Given the description of an element on the screen output the (x, y) to click on. 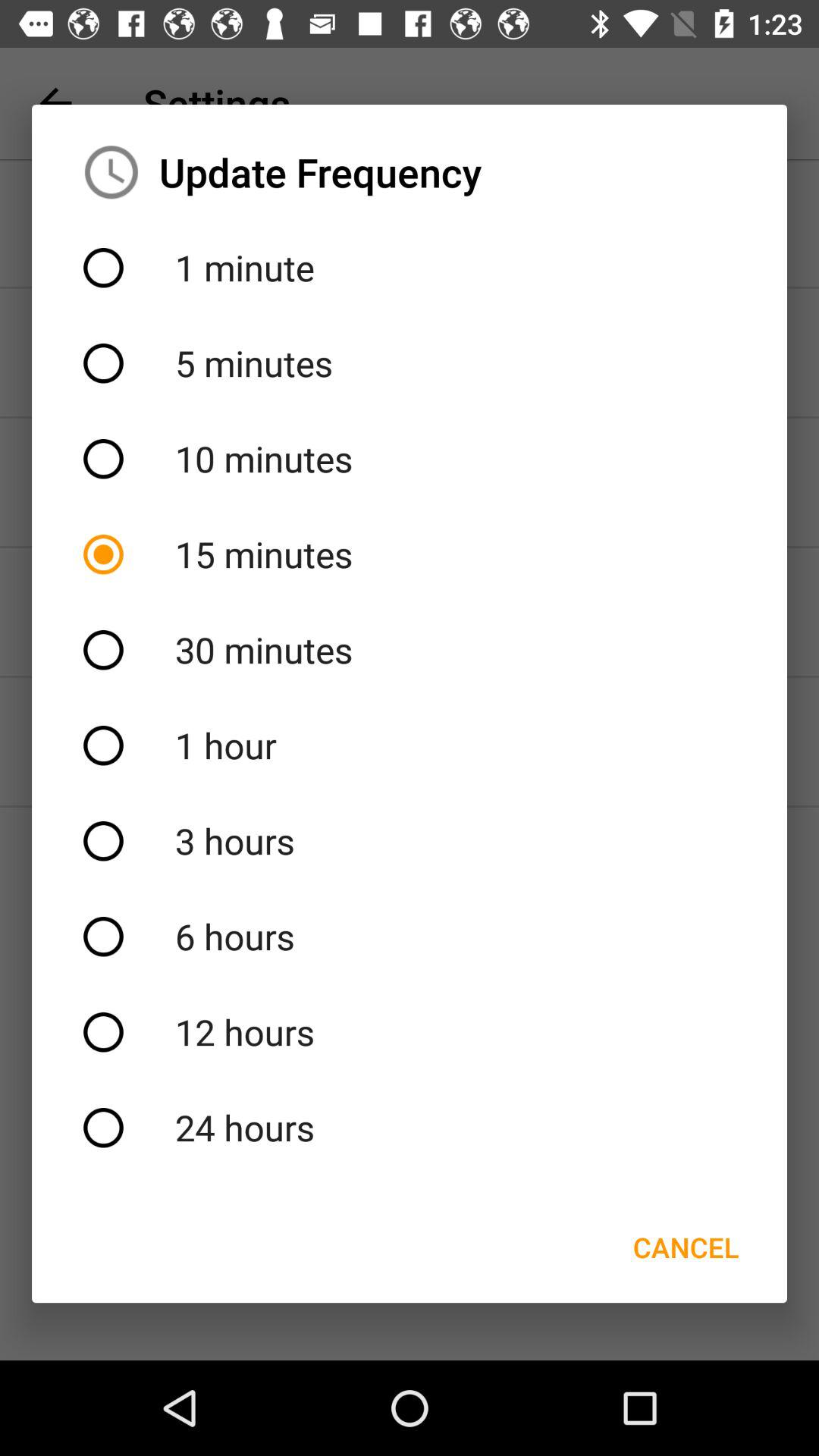
choose the icon above the 3 hours icon (409, 745)
